Given the description of an element on the screen output the (x, y) to click on. 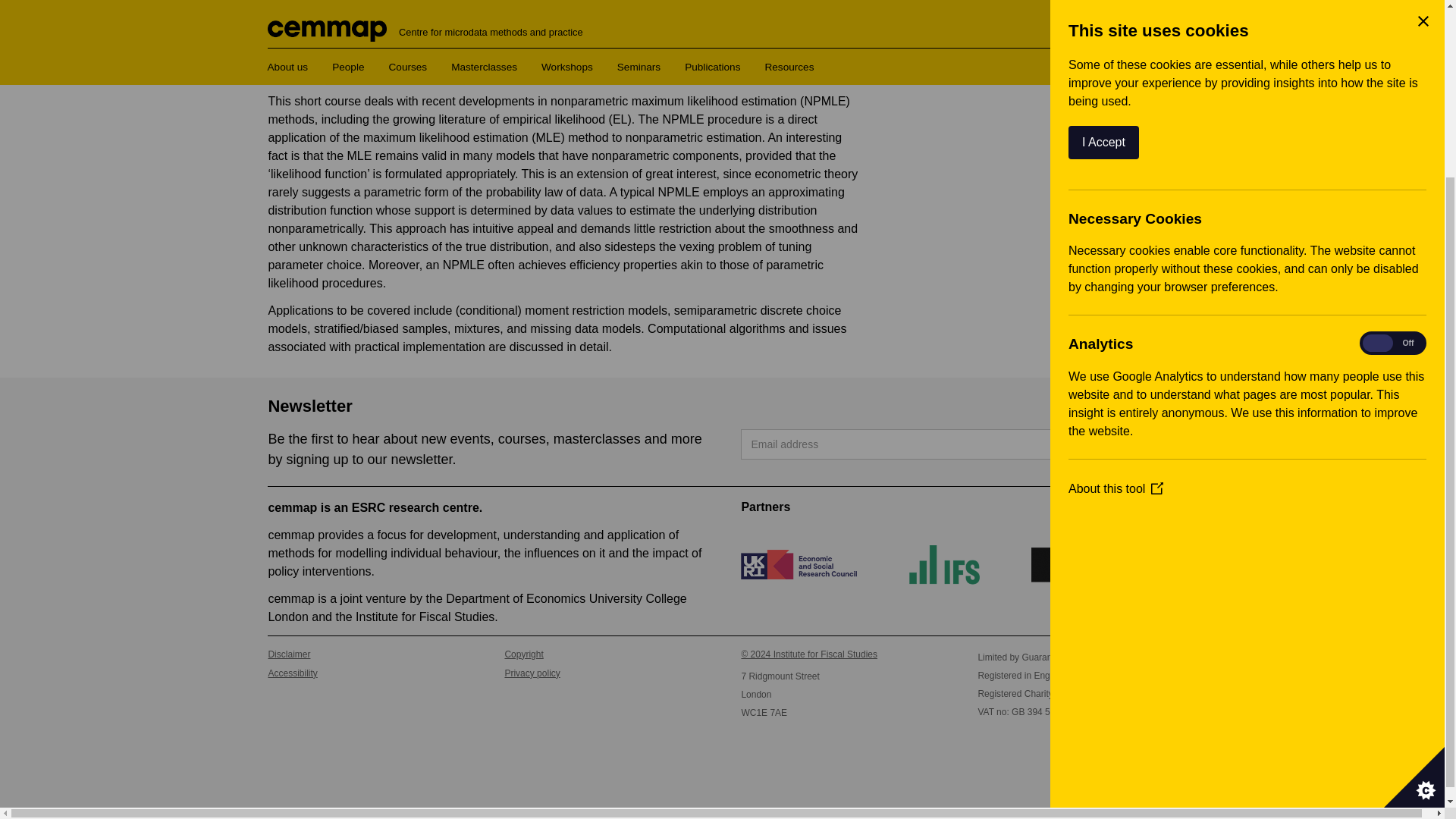
Submit (1132, 444)
Copyright (603, 654)
Disclaimer (366, 654)
Submit (1132, 444)
Privacy policy (603, 673)
Accessibility (366, 673)
